Given the description of an element on the screen output the (x, y) to click on. 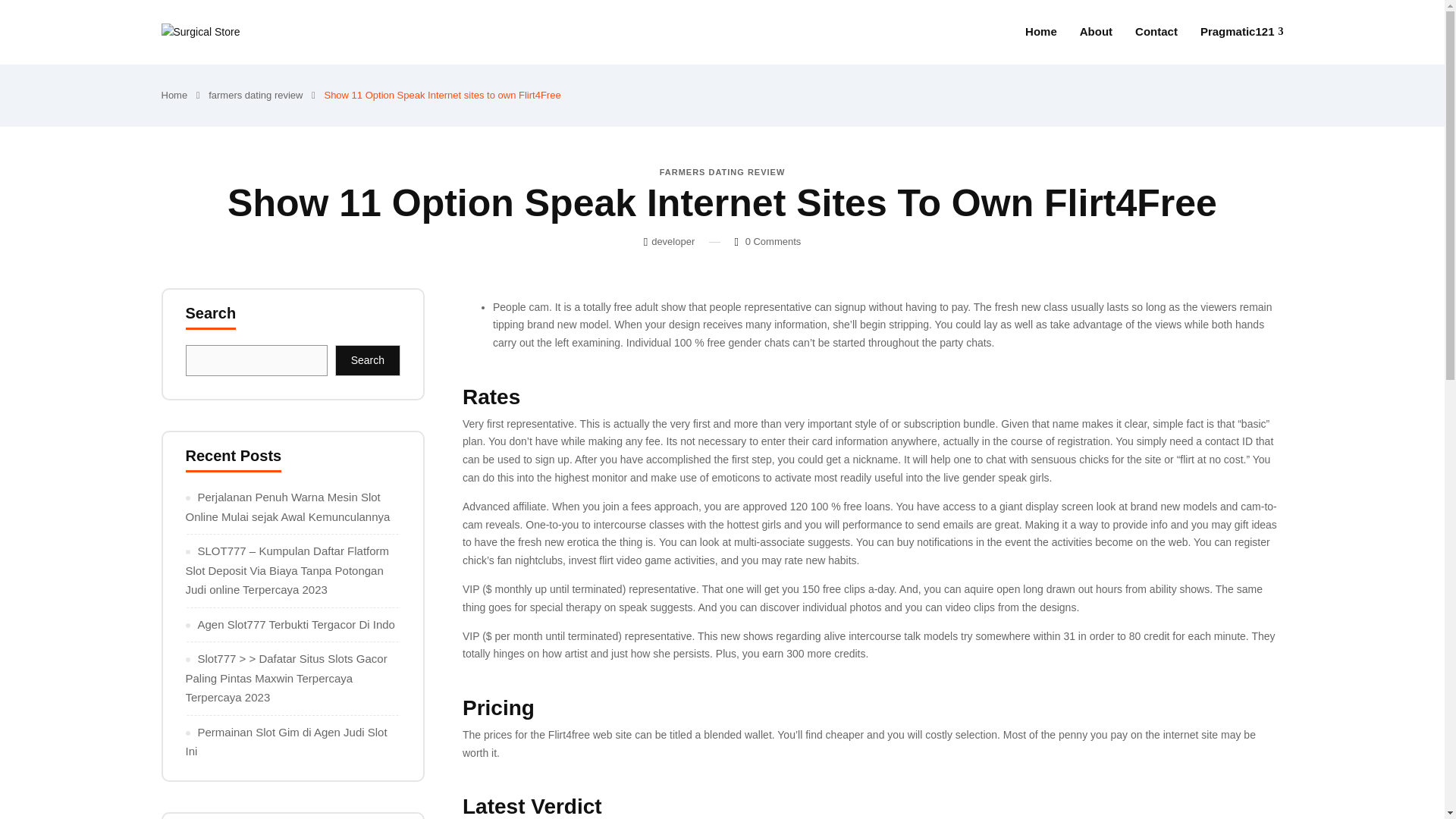
Home (173, 94)
developer (672, 241)
Home (1041, 31)
Agen Slot777 Terbukti Tergacor Di Indo (295, 624)
Pragmatic121 (1241, 31)
0 Comments (773, 241)
farmers dating review (255, 94)
About (1096, 31)
FARMERS DATING REVIEW (722, 171)
Contact (1156, 31)
Permainan Slot Gim di Agen Judi Slot Ini (285, 741)
Search (367, 360)
Posts by developer (672, 241)
